Given the description of an element on the screen output the (x, y) to click on. 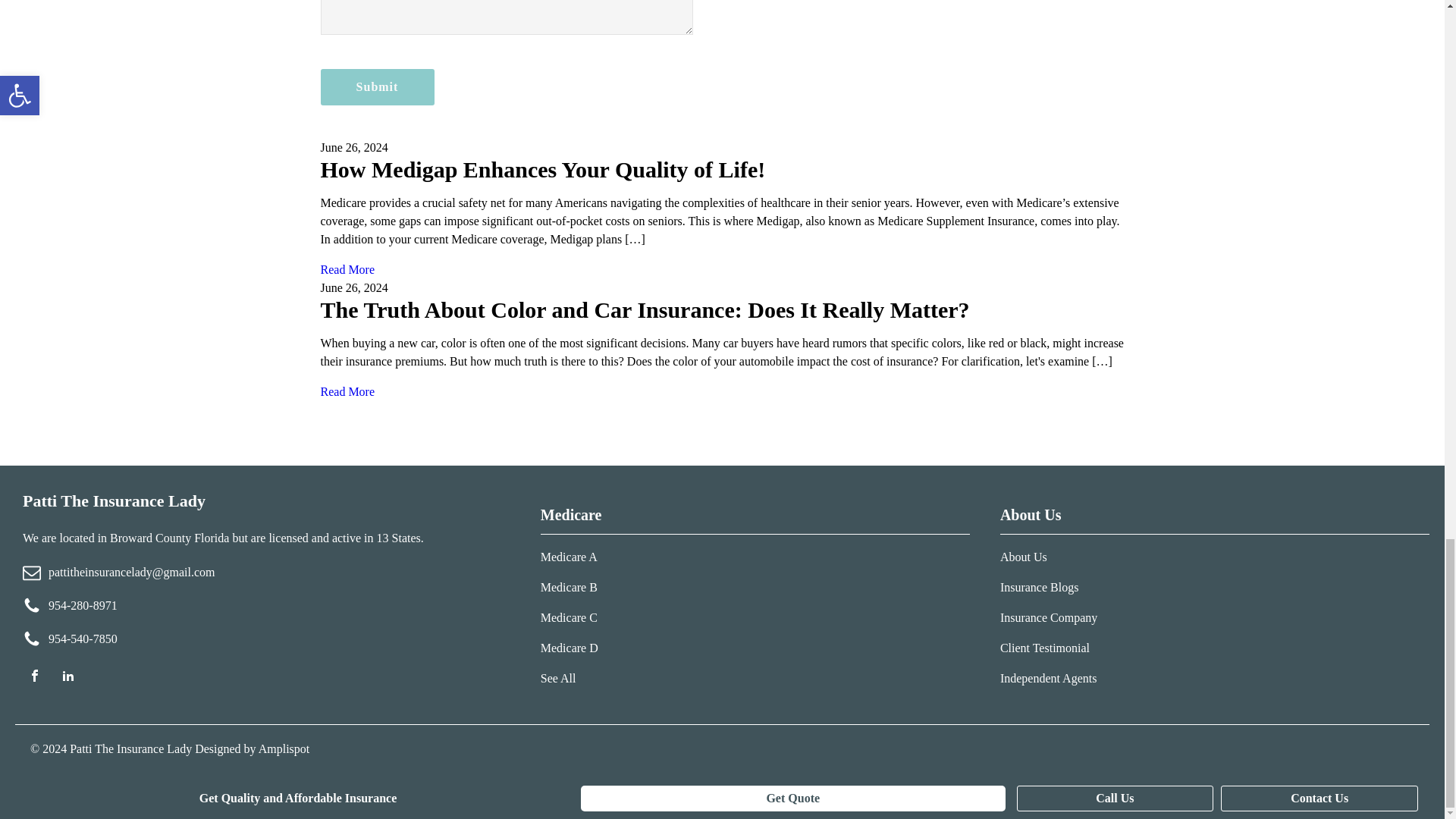
See All (568, 678)
Read More (347, 391)
Medicare A (568, 557)
Medicare B (568, 587)
Insurance Blogs (1048, 587)
Submit (376, 86)
Medicare C (568, 617)
Insurance Company (1048, 617)
Read More (347, 269)
Medicare D (568, 648)
About Us (1048, 557)
Submit (376, 86)
